Given the description of an element on the screen output the (x, y) to click on. 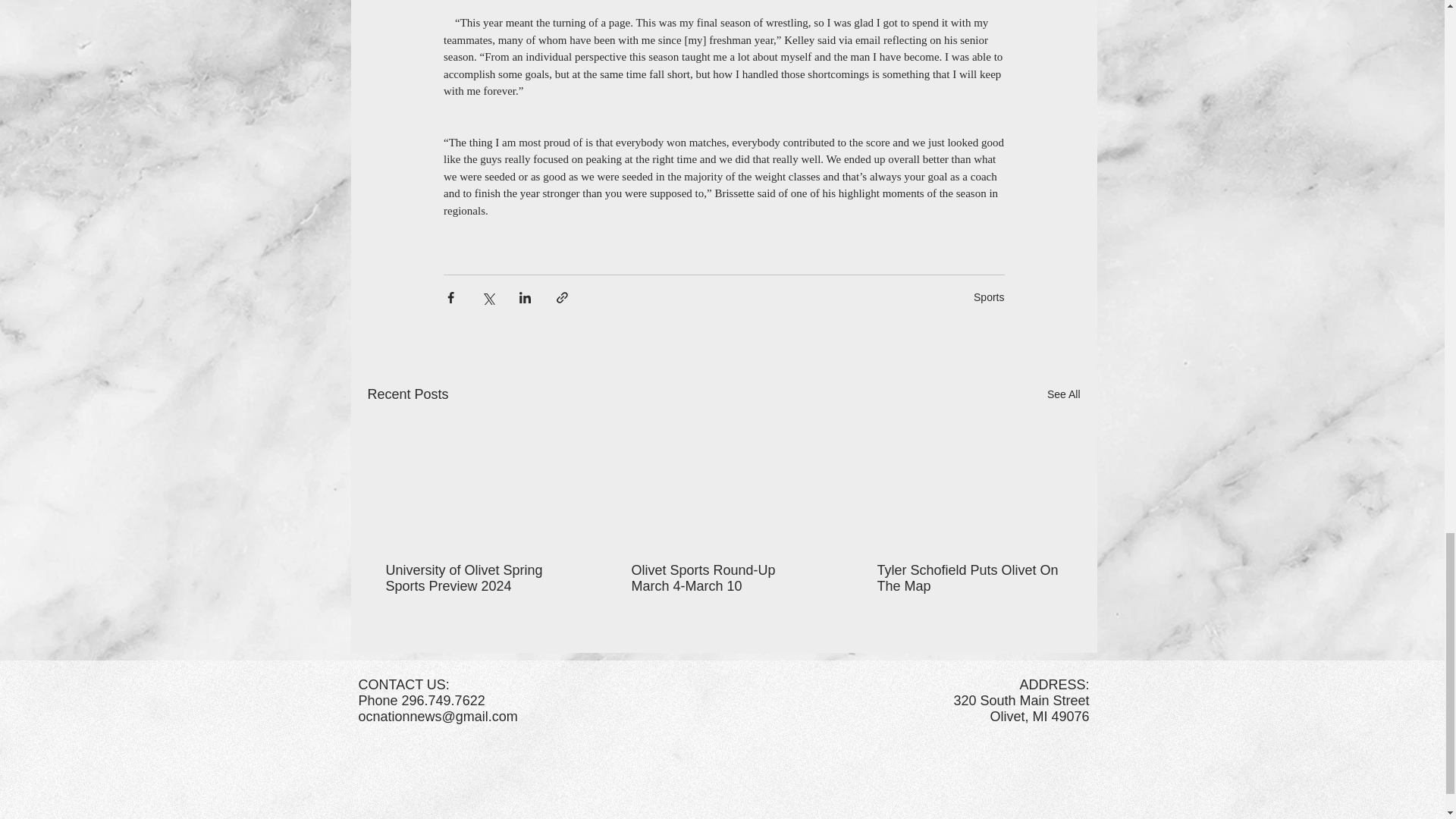
Olivet Sports Round-Up March 4-March 10 (721, 578)
Tyler Schofield Puts Olivet On The Map (967, 578)
Sports (989, 297)
See All (1063, 394)
University of Olivet Spring Sports Preview 2024 (477, 578)
